Given the description of an element on the screen output the (x, y) to click on. 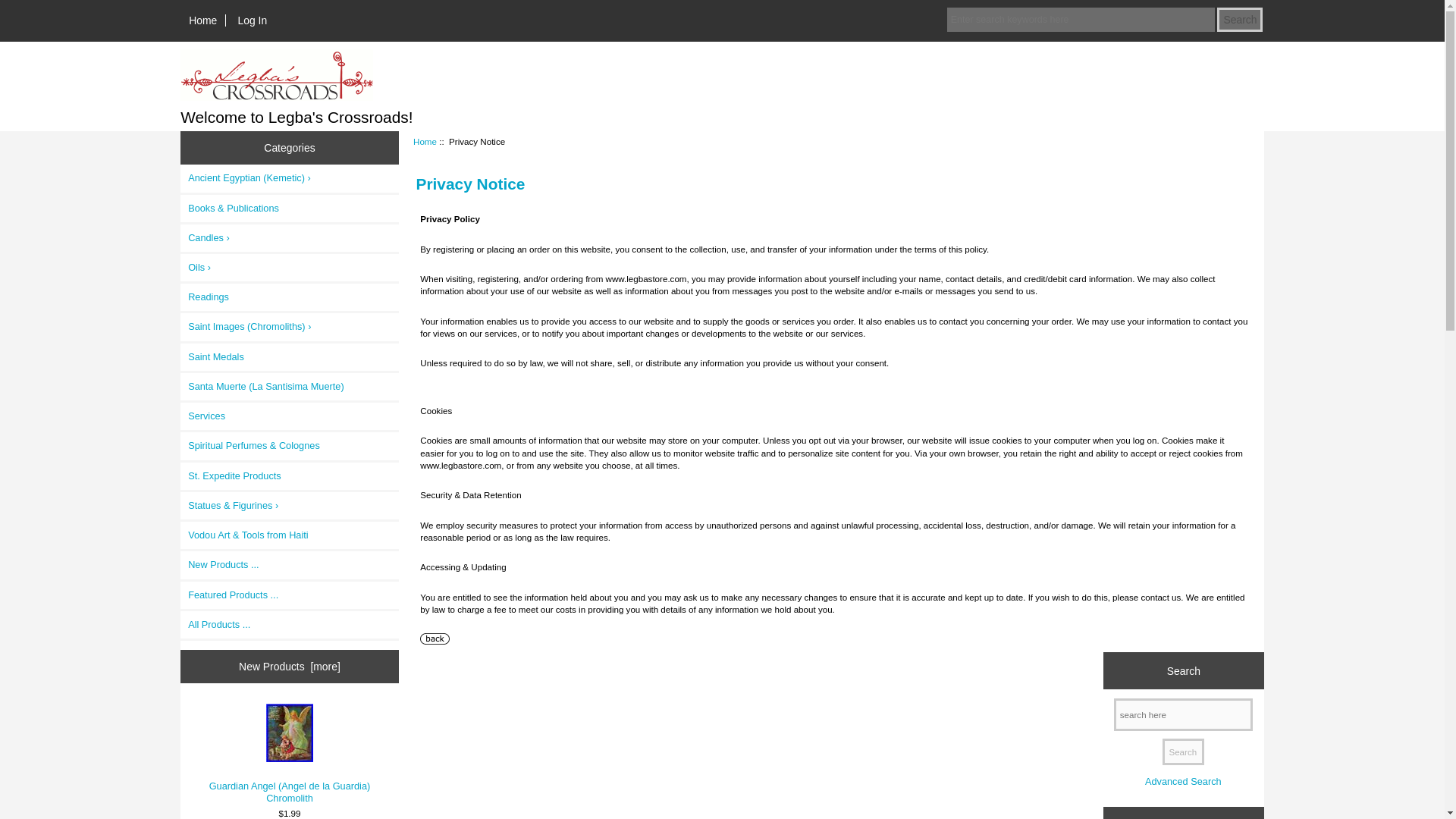
Services (289, 415)
Featured Products ... (289, 595)
Search (1182, 751)
Home (424, 141)
All Products ... (289, 624)
Readings (289, 297)
Home (202, 20)
New Products ... (289, 564)
Saint Medals (289, 357)
Search (1239, 19)
